Given the description of an element on the screen output the (x, y) to click on. 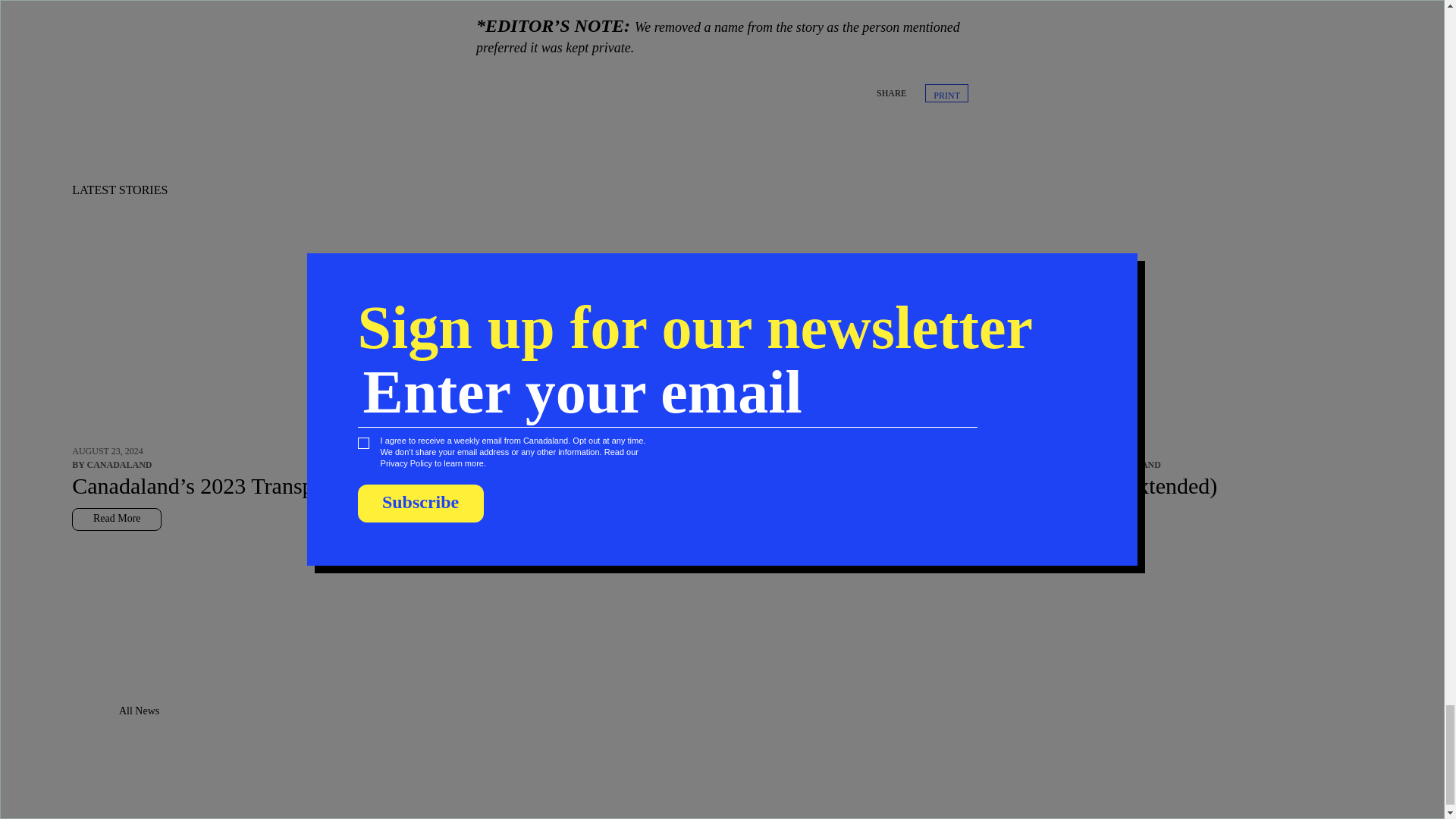
Posts by CANADALAND (579, 464)
Posts by CANADALAND (118, 464)
Posts by CANADALAND (1128, 464)
Posts by Molly Thomas (1045, 464)
